Given the description of an element on the screen output the (x, y) to click on. 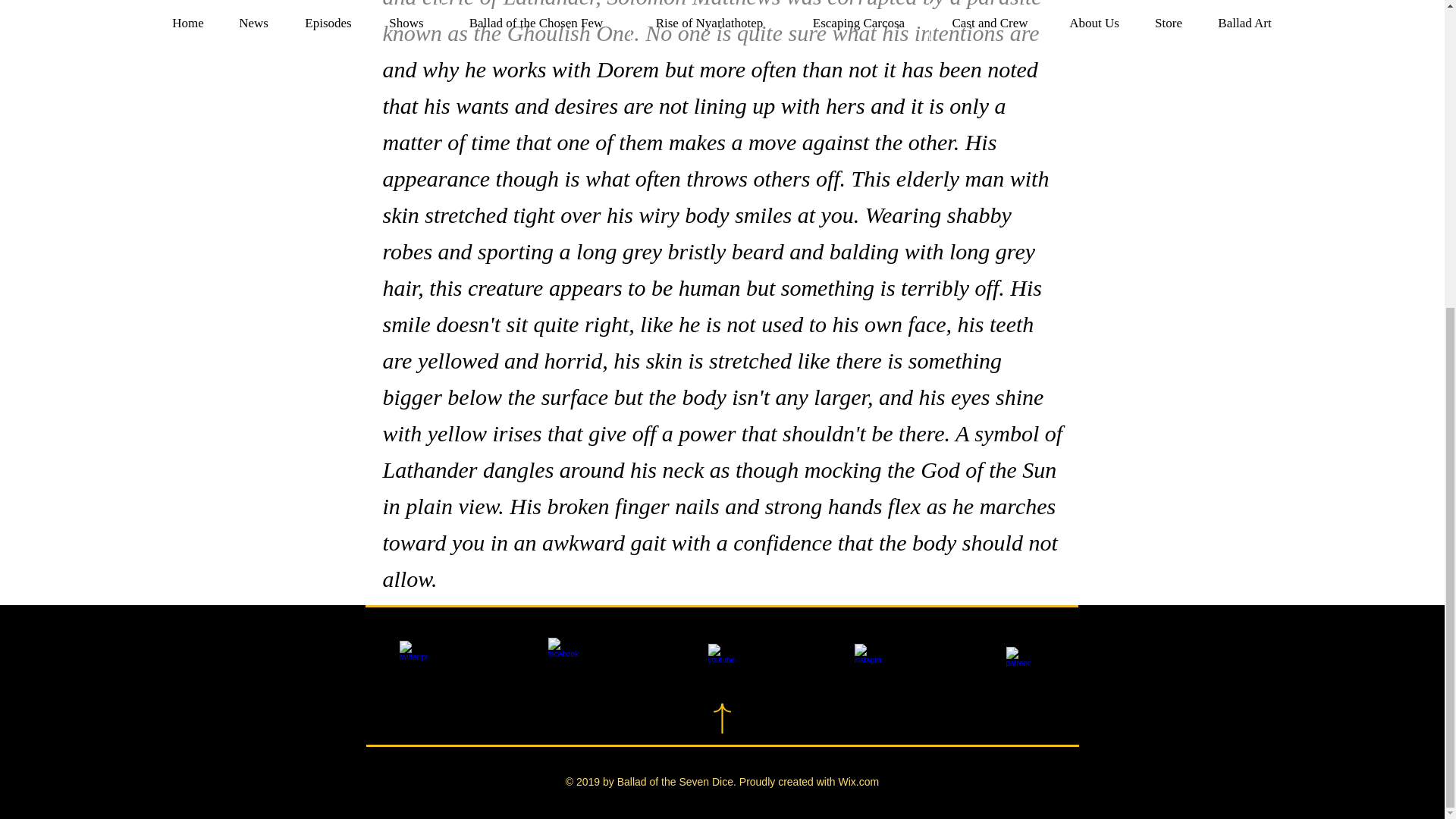
Wix.com (858, 781)
